Given the description of an element on the screen output the (x, y) to click on. 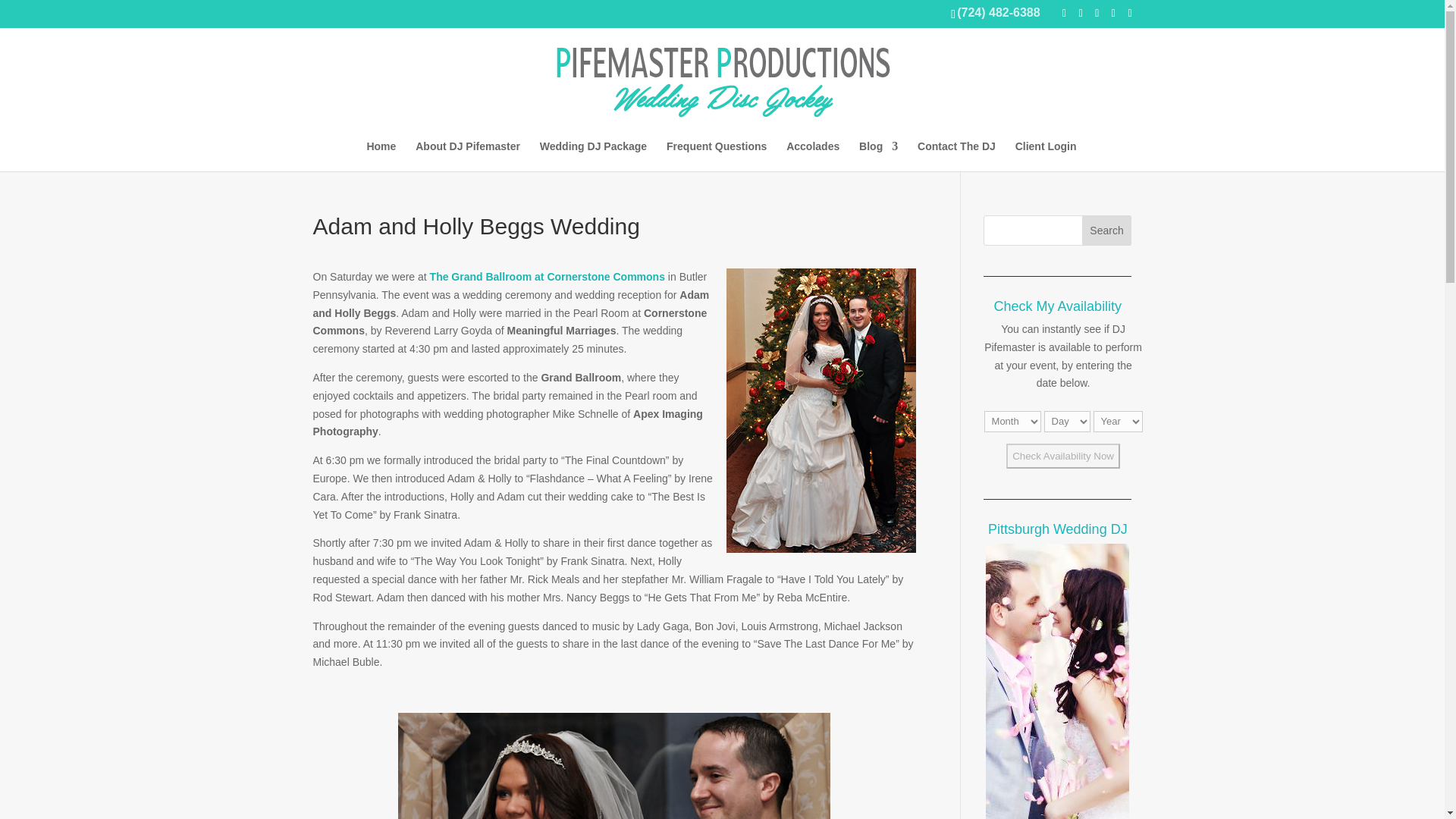
Accolades (813, 155)
Wedding DJ Entertainment (381, 155)
Wedding DJ Prices in Pittsburgh (593, 155)
Frequently Asked Questions (716, 155)
Contact The DJ (956, 155)
Home (381, 155)
Search (1106, 230)
Client Login (1045, 155)
Check Availability Now (1062, 455)
The Grand Ballroom at Cornerstone Commons (547, 276)
Wedding DJ Package (593, 155)
Contact The DJ (956, 155)
Blog (878, 155)
Read Wedding DJ Reviews  (813, 155)
DJ Client Login (1045, 155)
